Given the description of an element on the screen output the (x, y) to click on. 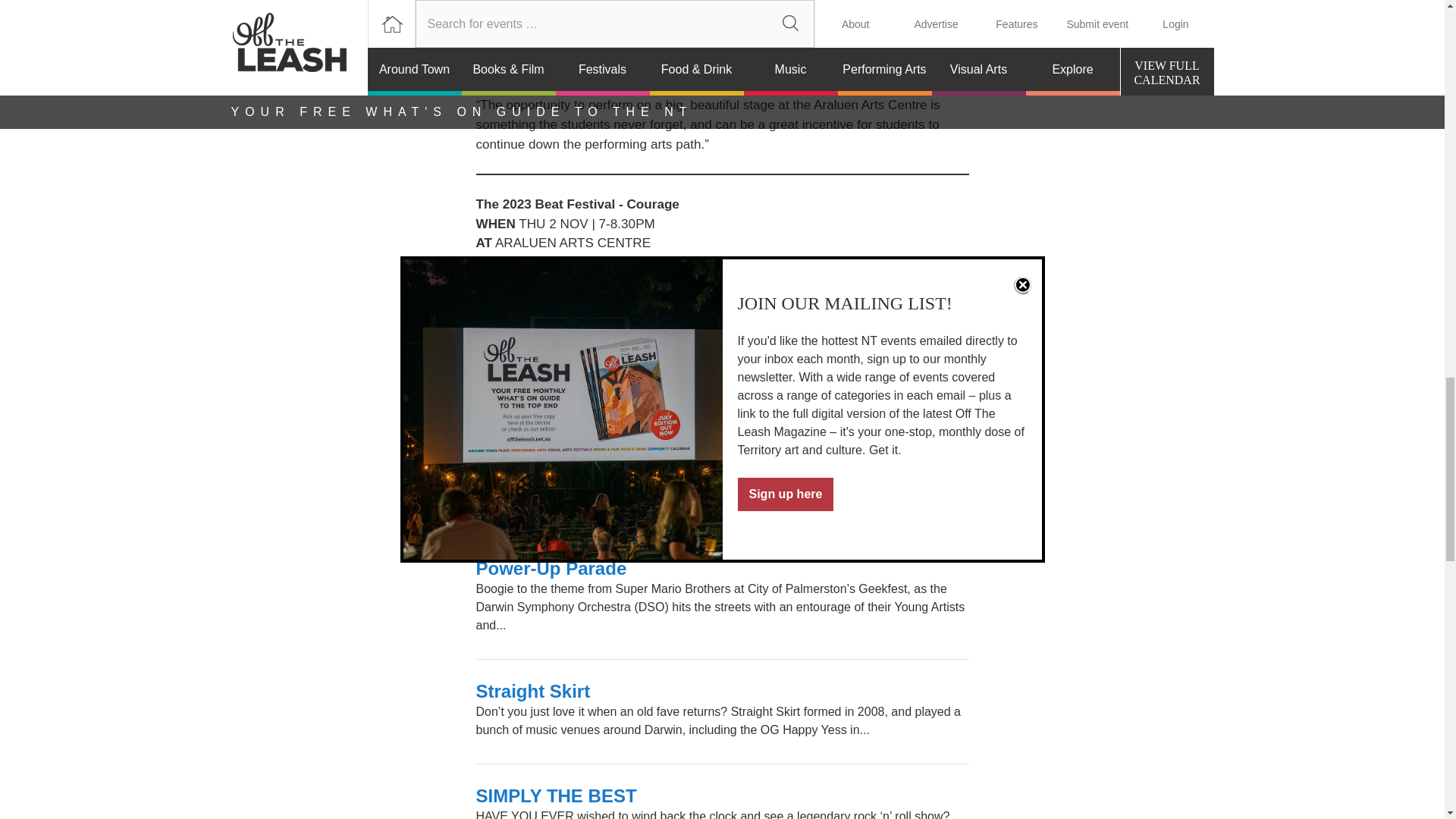
Share on Facebook (498, 411)
Power-Up Parade (551, 567)
araluenartscentre.nt.gov.au (602, 281)
Tweet this on twitter (547, 411)
Straight Skirt (533, 690)
SIMPLY THE BEST (556, 795)
